Given the description of an element on the screen output the (x, y) to click on. 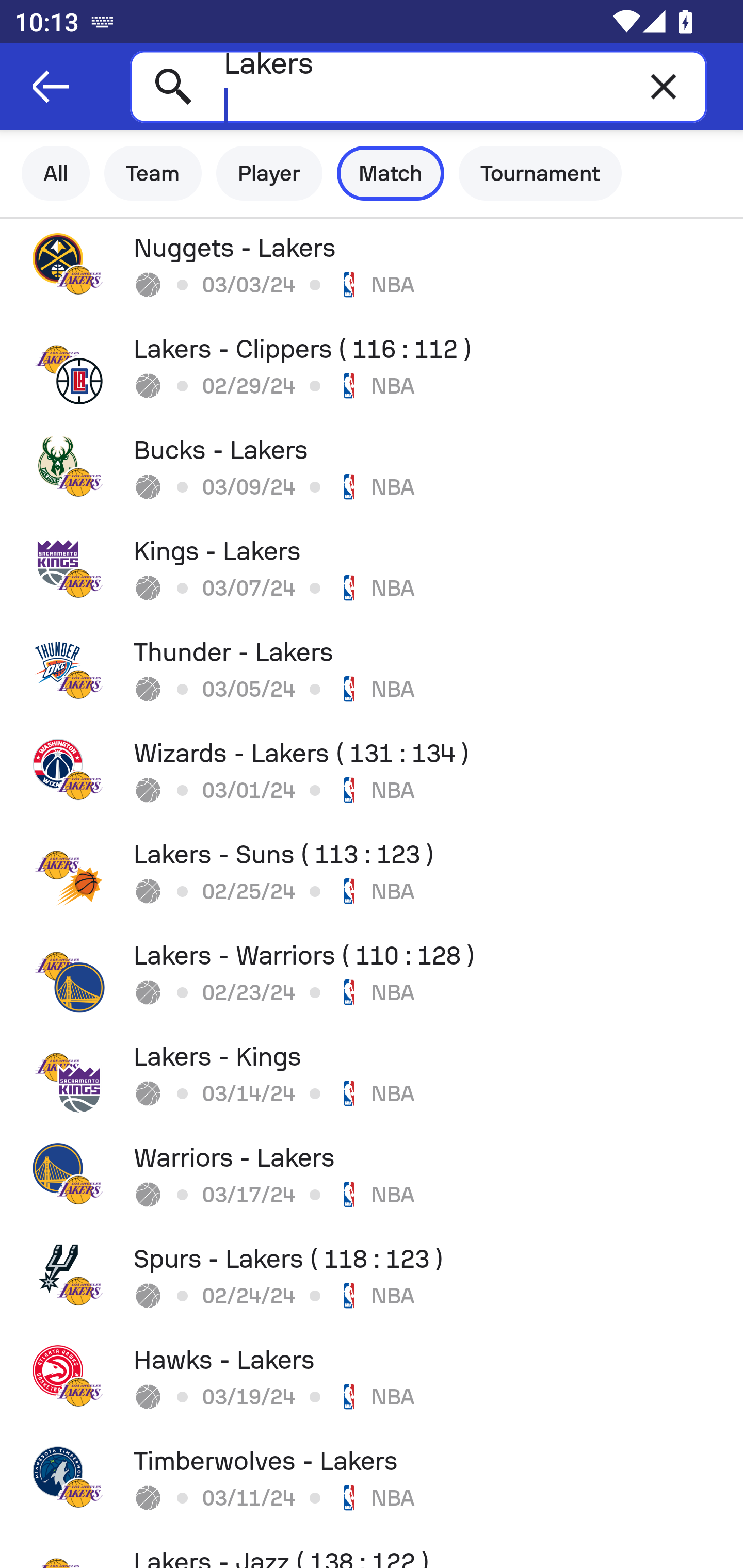
Navigate up (50, 86)
Lakers
 (418, 86)
Clear text (663, 86)
All (55, 172)
Team (152, 172)
Player (268, 172)
Match (390, 172)
Tournament (540, 172)
Nuggets - Lakers 03/03/24 NBA (371, 268)
Lakers - Clippers ( 116 : 112 ) 02/29/24 NBA (371, 369)
Bucks - Lakers 03/09/24 NBA (371, 471)
Kings - Lakers 03/07/24 NBA (371, 572)
Thunder - Lakers 03/05/24 NBA (371, 673)
Wizards - Lakers ( 131 : 134 ) 03/01/24 NBA (371, 774)
Lakers - Suns ( 113 : 123 ) 02/25/24 NBA (371, 875)
Lakers - Warriors ( 110 : 128 ) 02/23/24 NBA (371, 976)
Lakers - Kings 03/14/24 NBA (371, 1077)
Warriors - Lakers 03/17/24 NBA (371, 1178)
Spurs - Lakers ( 118 : 123 ) 02/24/24 NBA (371, 1280)
Hawks - Lakers 03/19/24 NBA (371, 1381)
Timberwolves - Lakers 03/11/24 NBA (371, 1482)
